Given the description of an element on the screen output the (x, y) to click on. 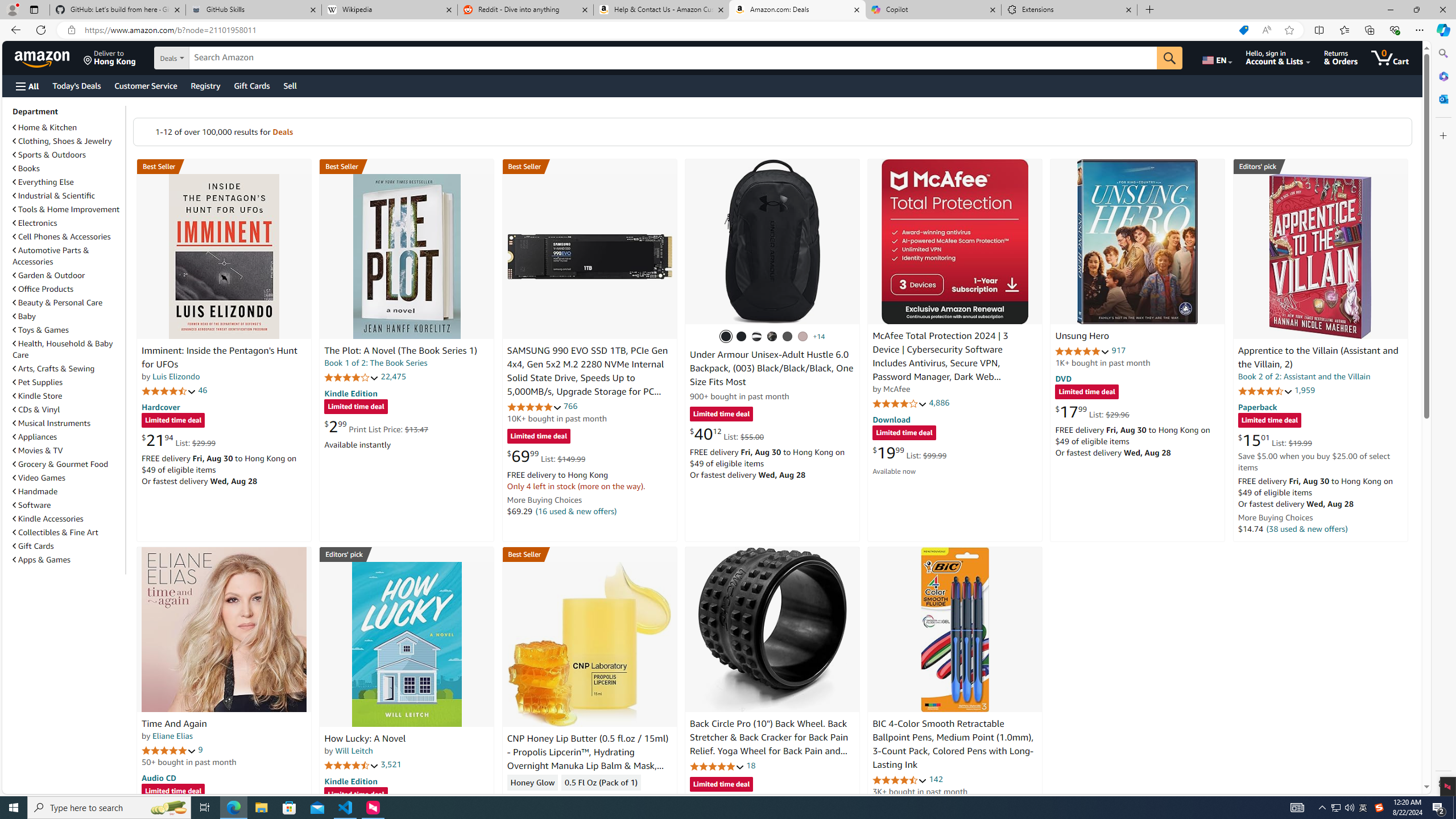
Customer Service (145, 85)
$17.99 List: $29.96 (1092, 411)
$21.94 List: $29.99 (178, 439)
How Lucky: A Novel (405, 644)
Electronics (67, 222)
Kindle Edition (350, 780)
Health, Household & Baby Care (67, 348)
Book 2 of 2: Assistant and the Villain (1303, 376)
Tools & Home Improvement (66, 208)
Software (67, 505)
(015) Tetra Gray / Tetra Gray / Gray Matter (802, 336)
GitHub Skills (253, 9)
Cell Phones & Accessories (61, 236)
(004) Black / Black / Metallic Gold (772, 336)
Baby (67, 315)
